Given the description of an element on the screen output the (x, y) to click on. 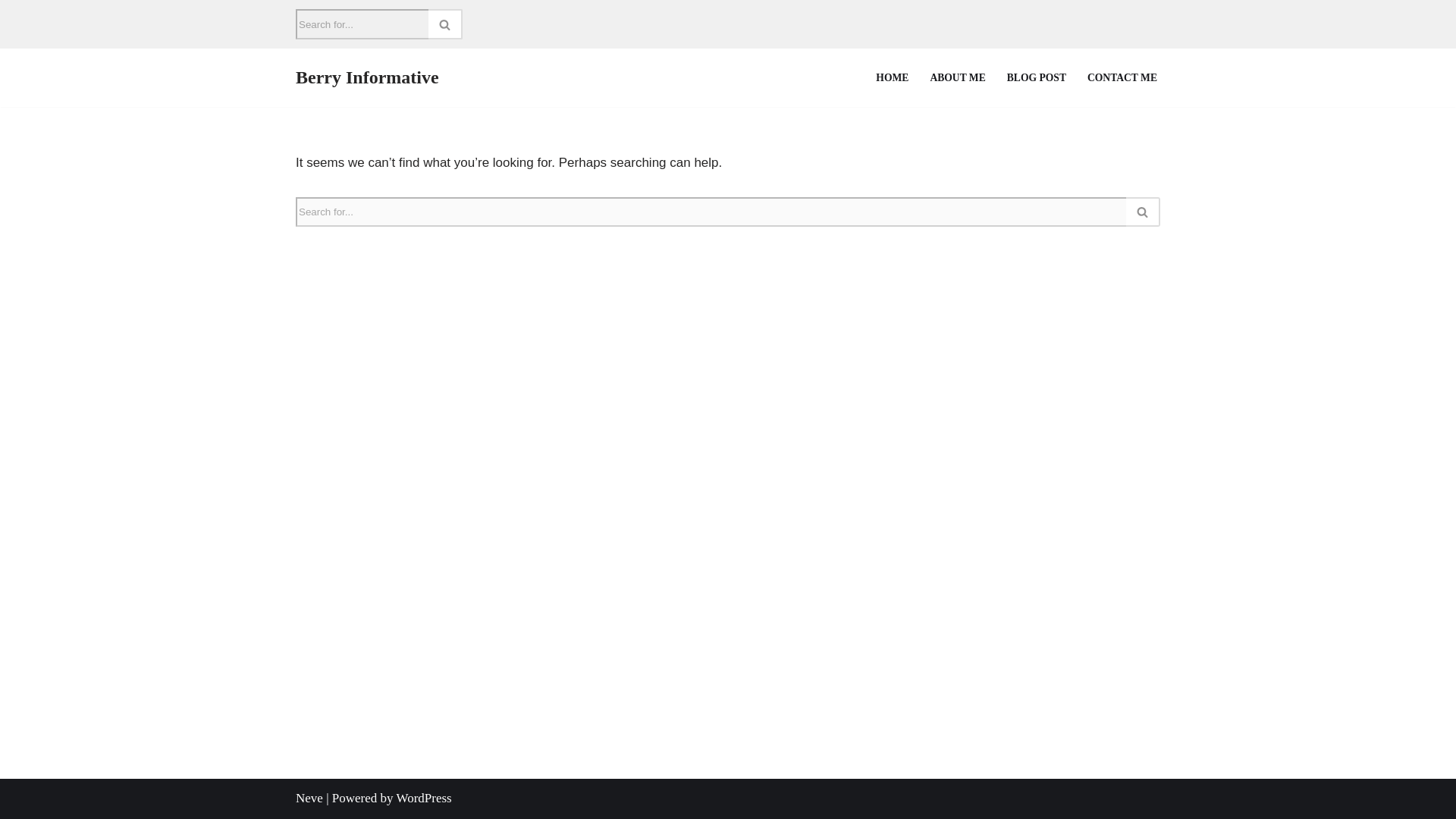
WordPress (423, 798)
HOME (892, 76)
Neve (309, 798)
CONTACT ME (1122, 76)
BLOG POST (1036, 76)
ABOUT ME (957, 76)
Skip to content (11, 31)
Berry Informative (367, 77)
